Given the description of an element on the screen output the (x, y) to click on. 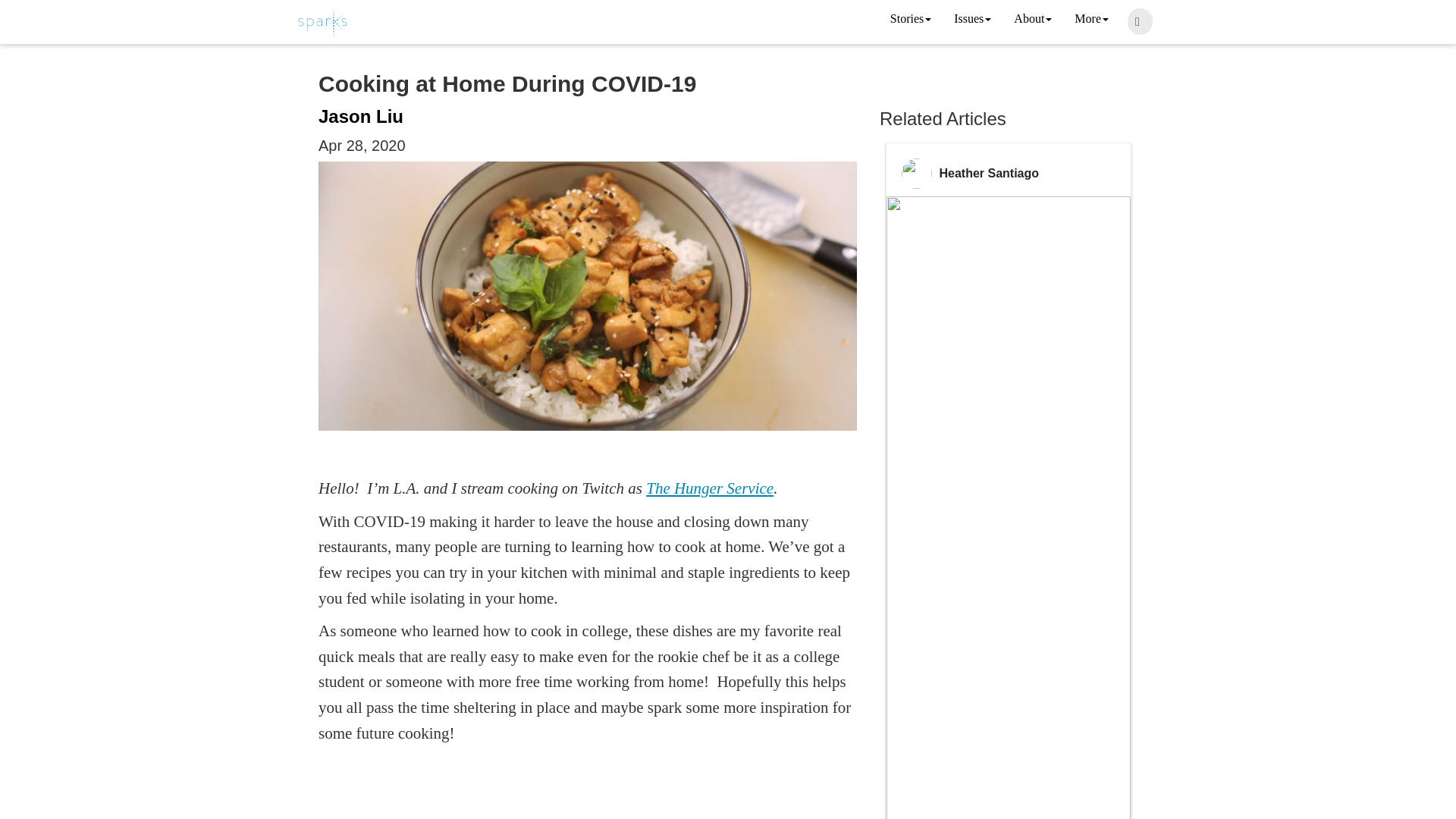
The Hunger Service (709, 488)
About (1032, 19)
Jason Liu (360, 116)
Stories (910, 19)
Heather Santiago (989, 173)
Issues (972, 19)
More (1090, 19)
